Given the description of an element on the screen output the (x, y) to click on. 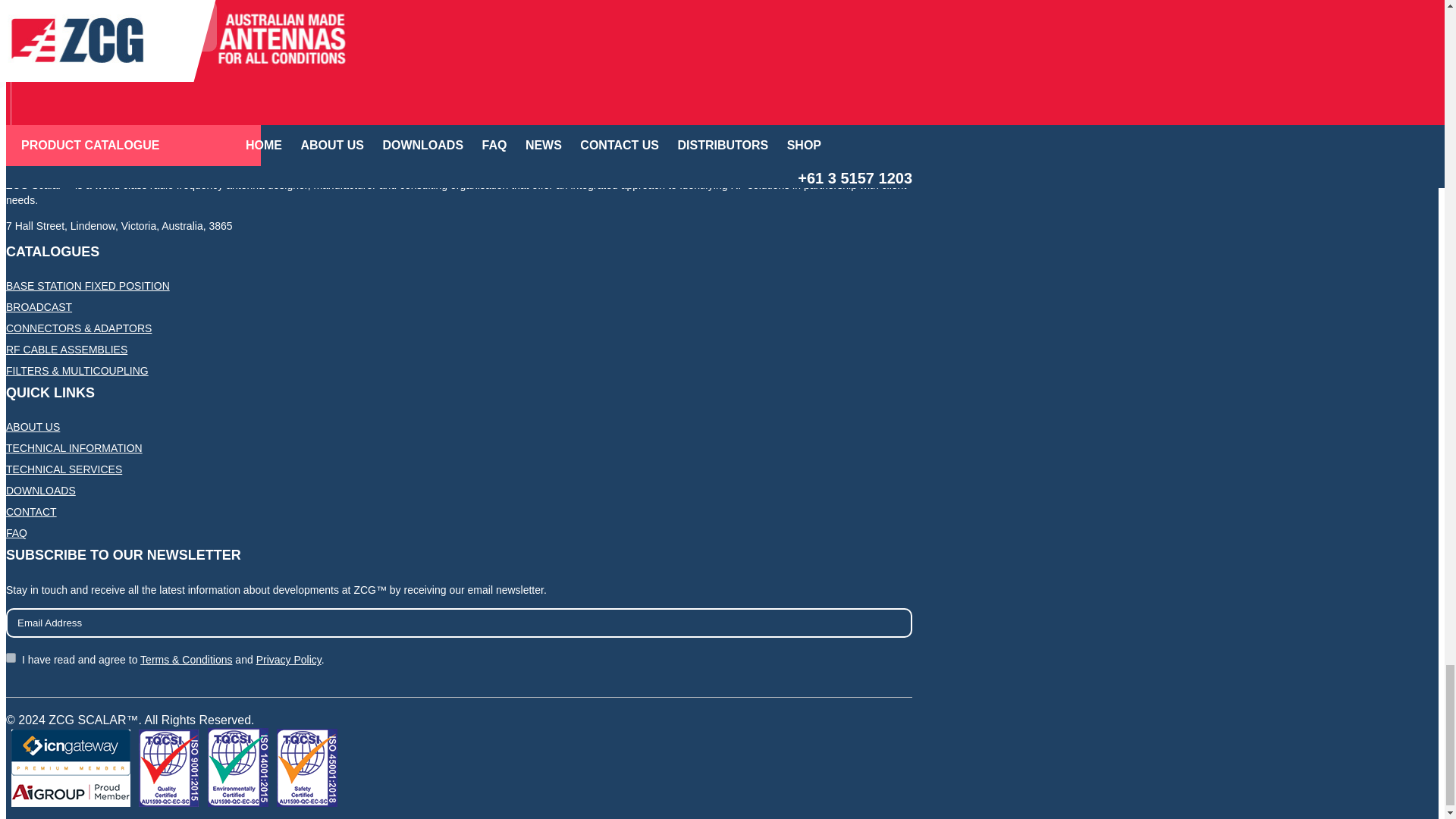
ReadTerm Conditions privacy policy (10, 657)
